Given the description of an element on the screen output the (x, y) to click on. 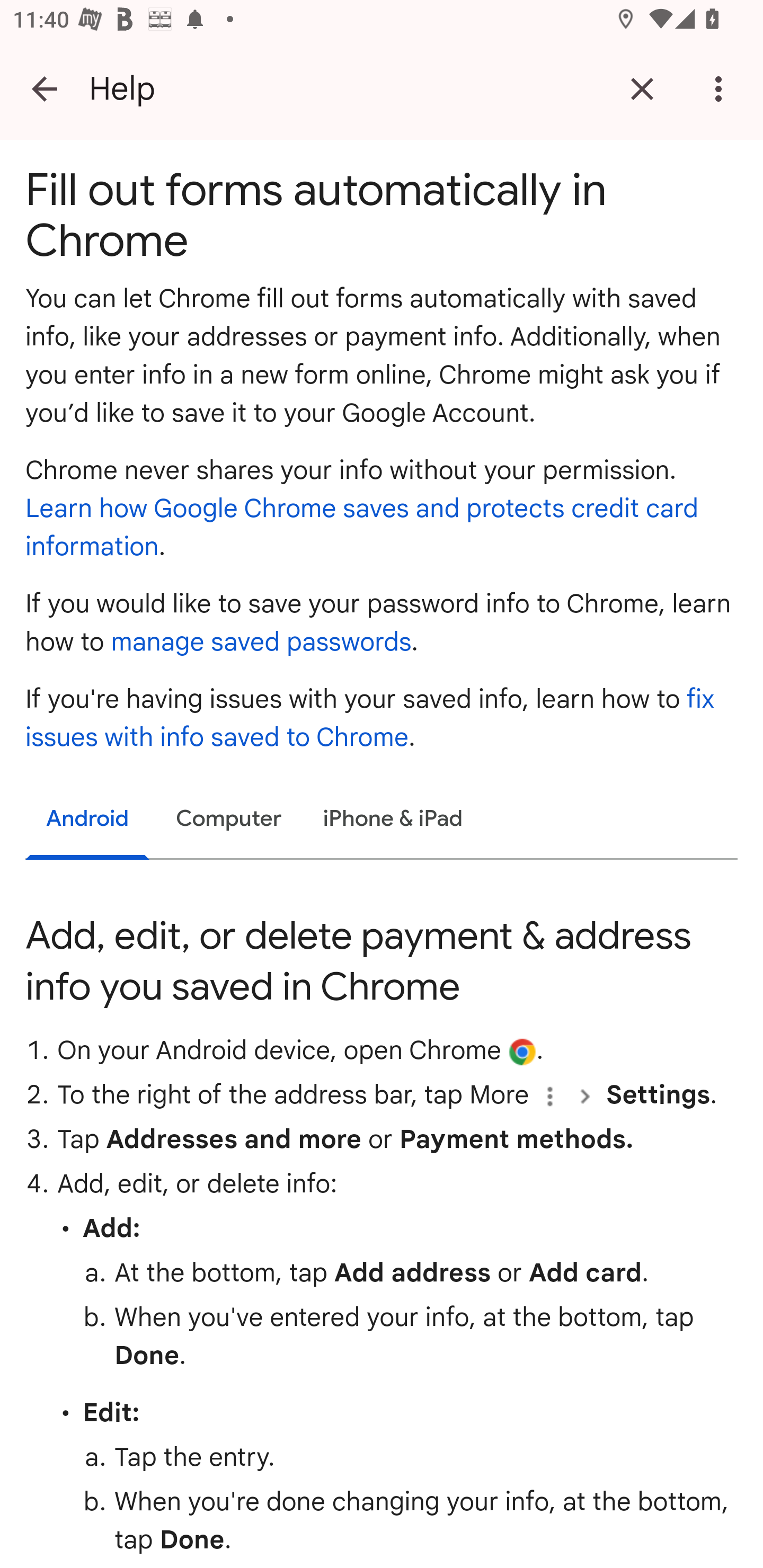
Navigate up (44, 88)
Return to Chrome (642, 88)
More options (721, 88)
manage saved passwords (260, 641)
fix issues with info saved to Chrome (370, 717)
Android (88, 820)
Computer (228, 819)
iPhone & iPad (393, 819)
